Given the description of an element on the screen output the (x, y) to click on. 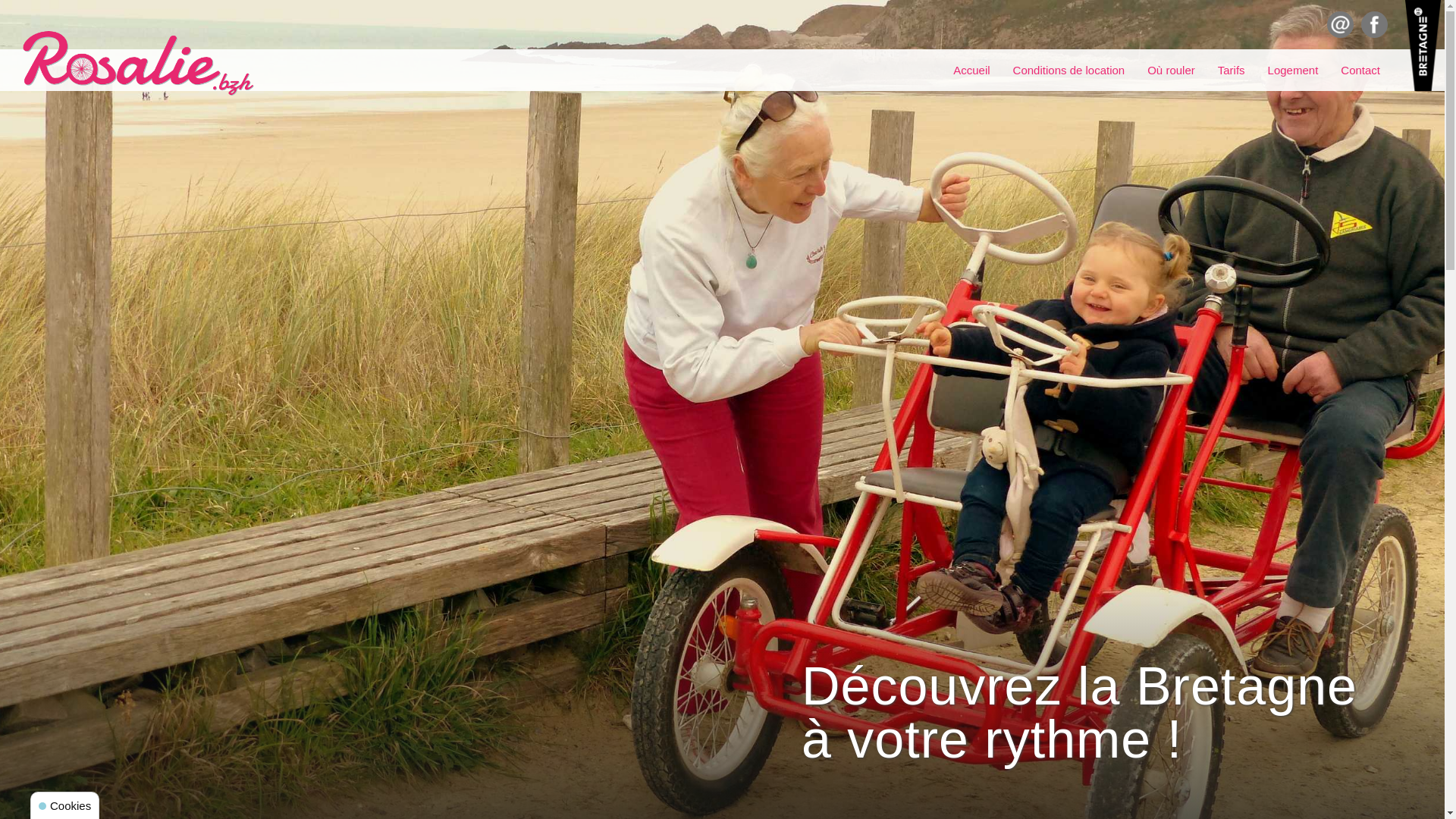
Accueil Element type: text (971, 70)
Contact Element type: text (1360, 70)
Logement Element type: text (1293, 70)
Nous contacter Element type: hover (1340, 24)
Tarifs Element type: text (1231, 70)
Conditions de location Element type: text (1068, 70)
Mush diffusion : Sable d'or Element type: hover (1422, 45)
Mush diffusion : Sable d'or Element type: hover (138, 62)
Notre page Facebook Element type: hover (1374, 24)
